Given the description of an element on the screen output the (x, y) to click on. 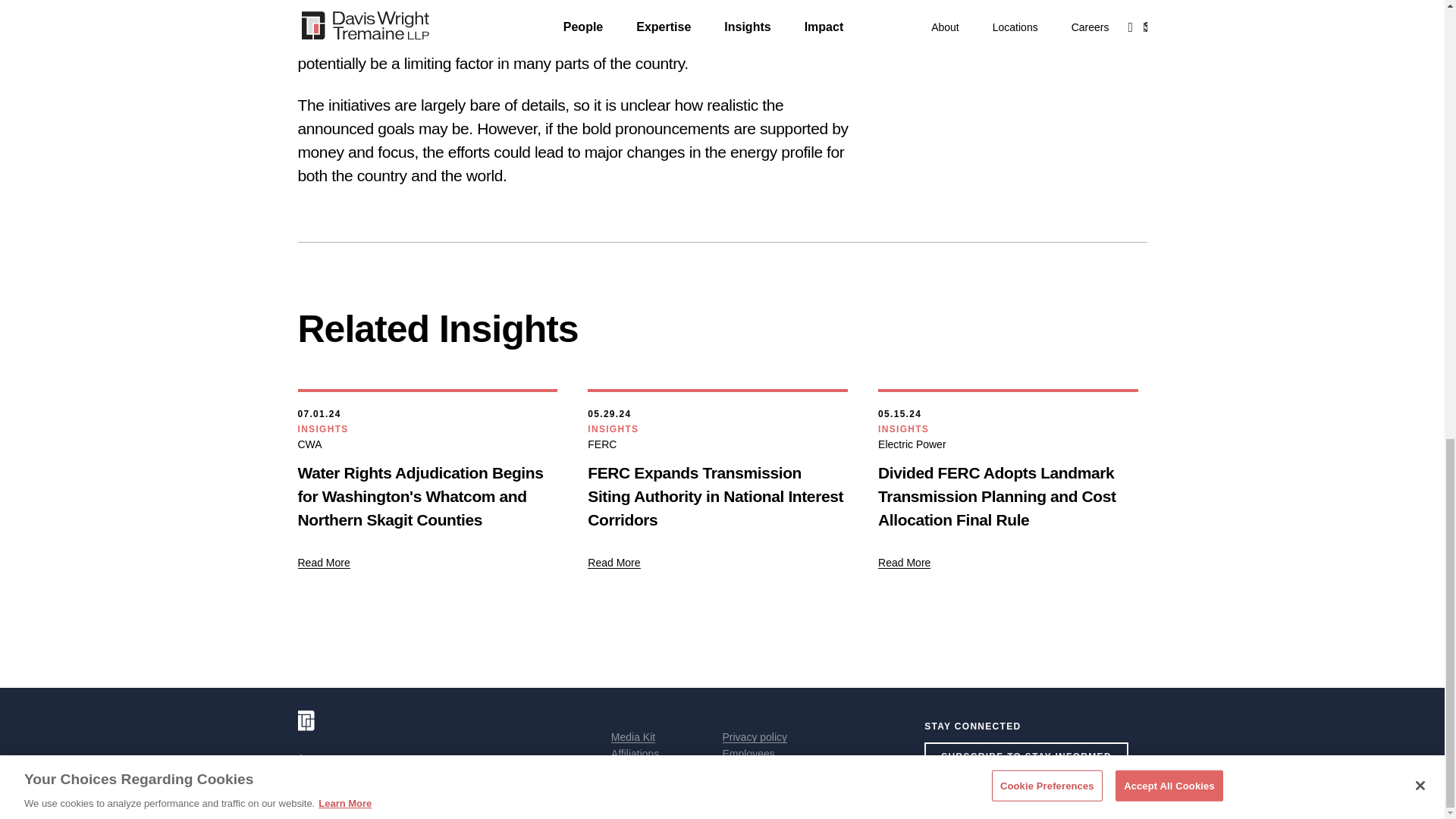
Media Kit (633, 736)
Read More (323, 562)
Read More (614, 562)
Privacy policy (754, 736)
Affiliations (635, 753)
Read More (903, 562)
Cookie Preferences (657, 787)
DWT Collaborate (762, 770)
